Given the description of an element on the screen output the (x, y) to click on. 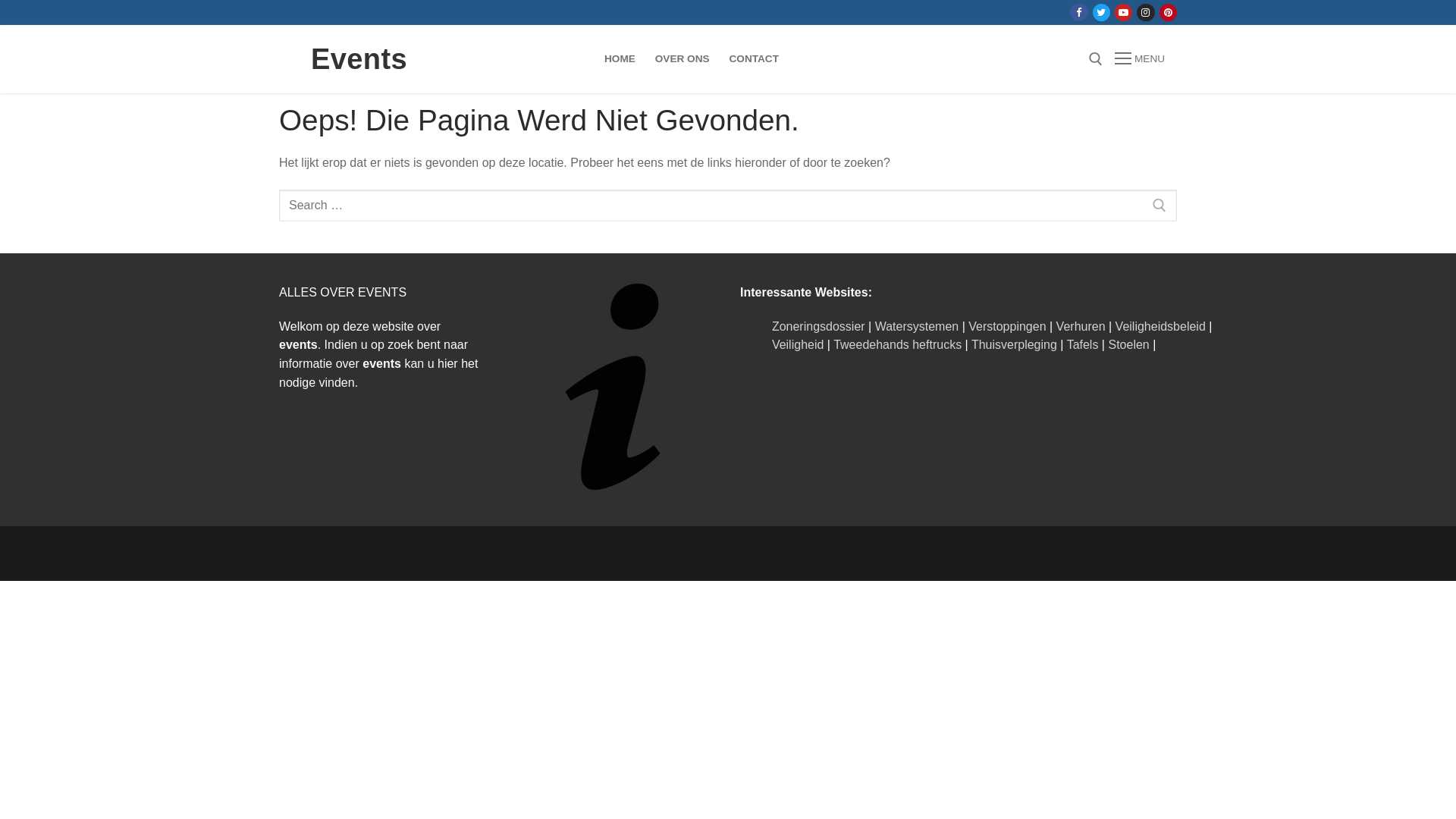
Tweedehands heftrucks Element type: text (897, 344)
Facebook Element type: hover (1078, 12)
MENU Element type: text (1139, 59)
Zoeken naar: Element type: hover (727, 205)
Thuisverpleging Element type: text (1014, 344)
OVER ONS Element type: text (682, 58)
CONTACT Element type: text (753, 58)
HOME Element type: text (619, 58)
Zoneringsdossier Element type: text (818, 326)
Instagram Element type: hover (1145, 12)
Twitter Element type: hover (1101, 12)
Stoelen Element type: text (1127, 344)
Events Element type: text (358, 58)
Youtube Element type: hover (1123, 12)
Tafels Element type: text (1082, 344)
Verstoppingen Element type: text (1006, 326)
Veiligheidsbeleid Element type: text (1160, 326)
Pinterest Element type: hover (1168, 12)
Spring naar de inhoud Element type: text (0, 0)
Veiligheid Element type: text (797, 344)
Watersystemen Element type: text (917, 326)
Verhuren Element type: text (1080, 326)
